Given the description of an element on the screen output the (x, y) to click on. 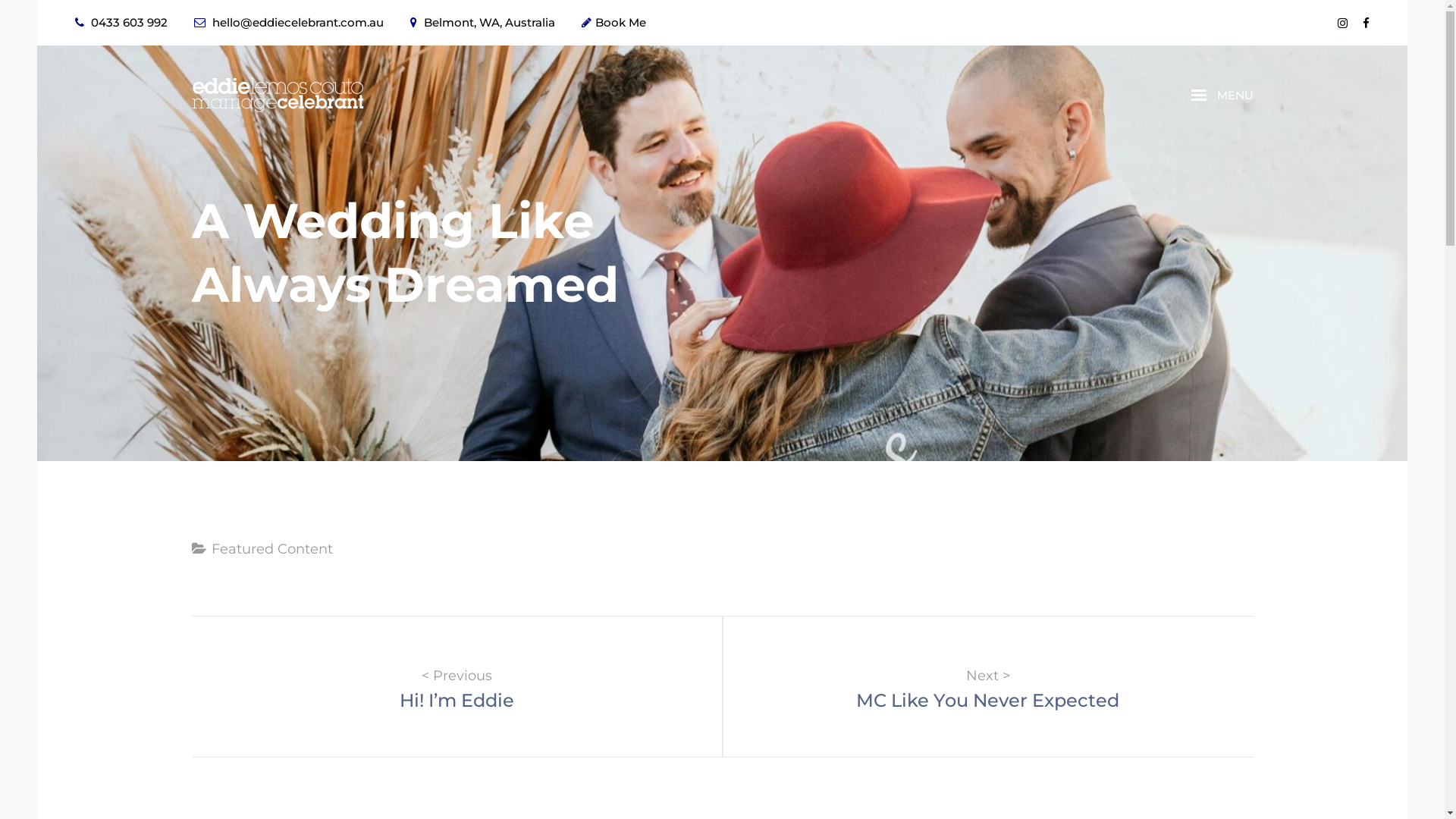
INSTA Element type: text (1342, 22)
Belmont, WA, Australia Element type: text (482, 22)
MENU Element type: text (1221, 95)
Next
MC Like You Never Expected Element type: text (987, 686)
Featured Content Element type: text (271, 548)
Book Me Element type: text (613, 22)
FB Element type: text (1365, 22)
hello@eddiecelebrant.com.au Element type: text (288, 22)
0433 603 992 Element type: text (121, 22)
